Given the description of an element on the screen output the (x, y) to click on. 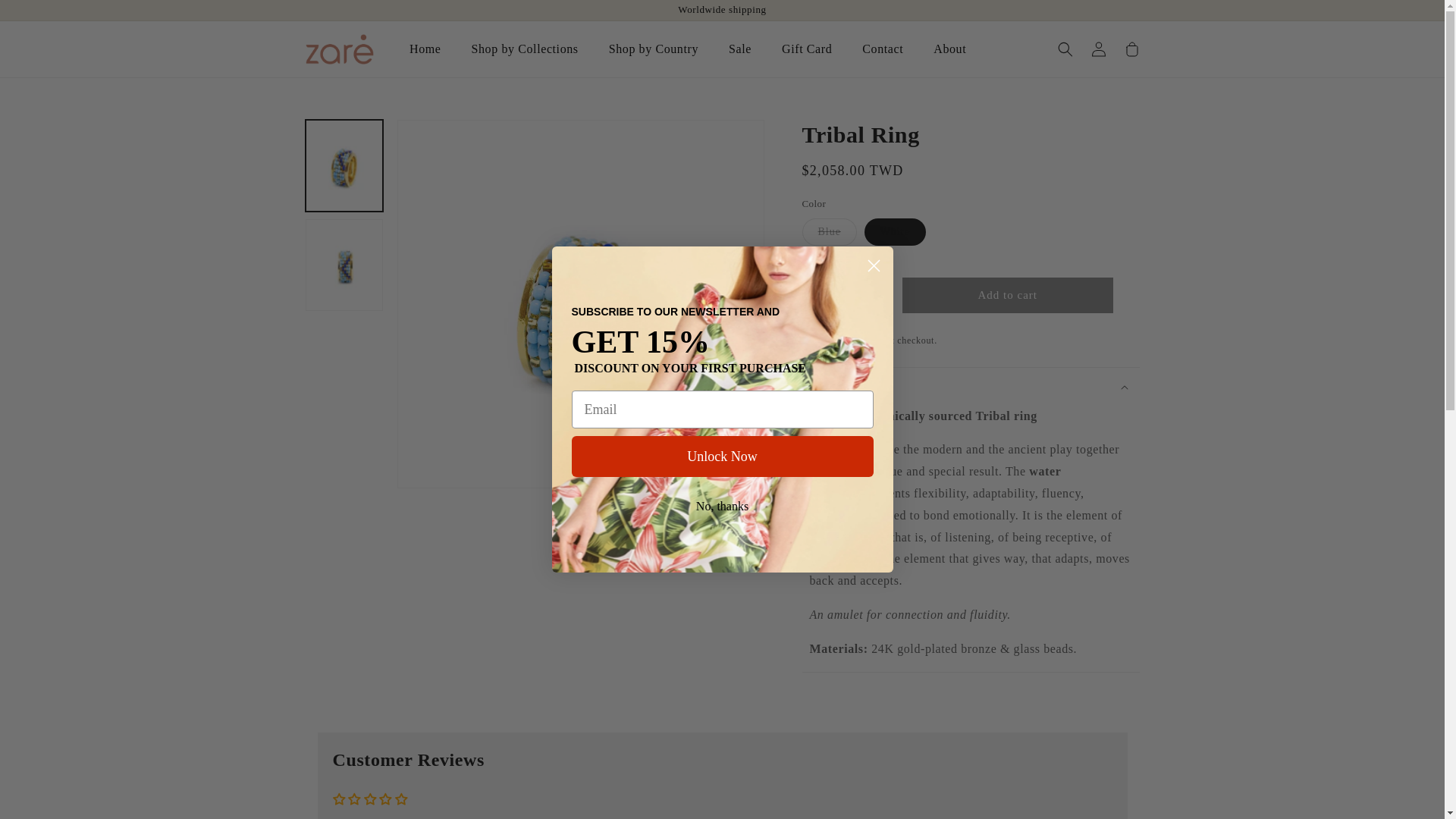
Close dialog 2 (873, 265)
Cart (1131, 49)
1 (844, 294)
About (949, 49)
Log in (1098, 49)
Sale (739, 49)
Shop by Country (653, 49)
Shop by Collections (525, 49)
Gift Card (807, 49)
Skip to product information (441, 136)
Skip to content (45, 17)
Home (424, 49)
Contact (882, 49)
